Given the description of an element on the screen output the (x, y) to click on. 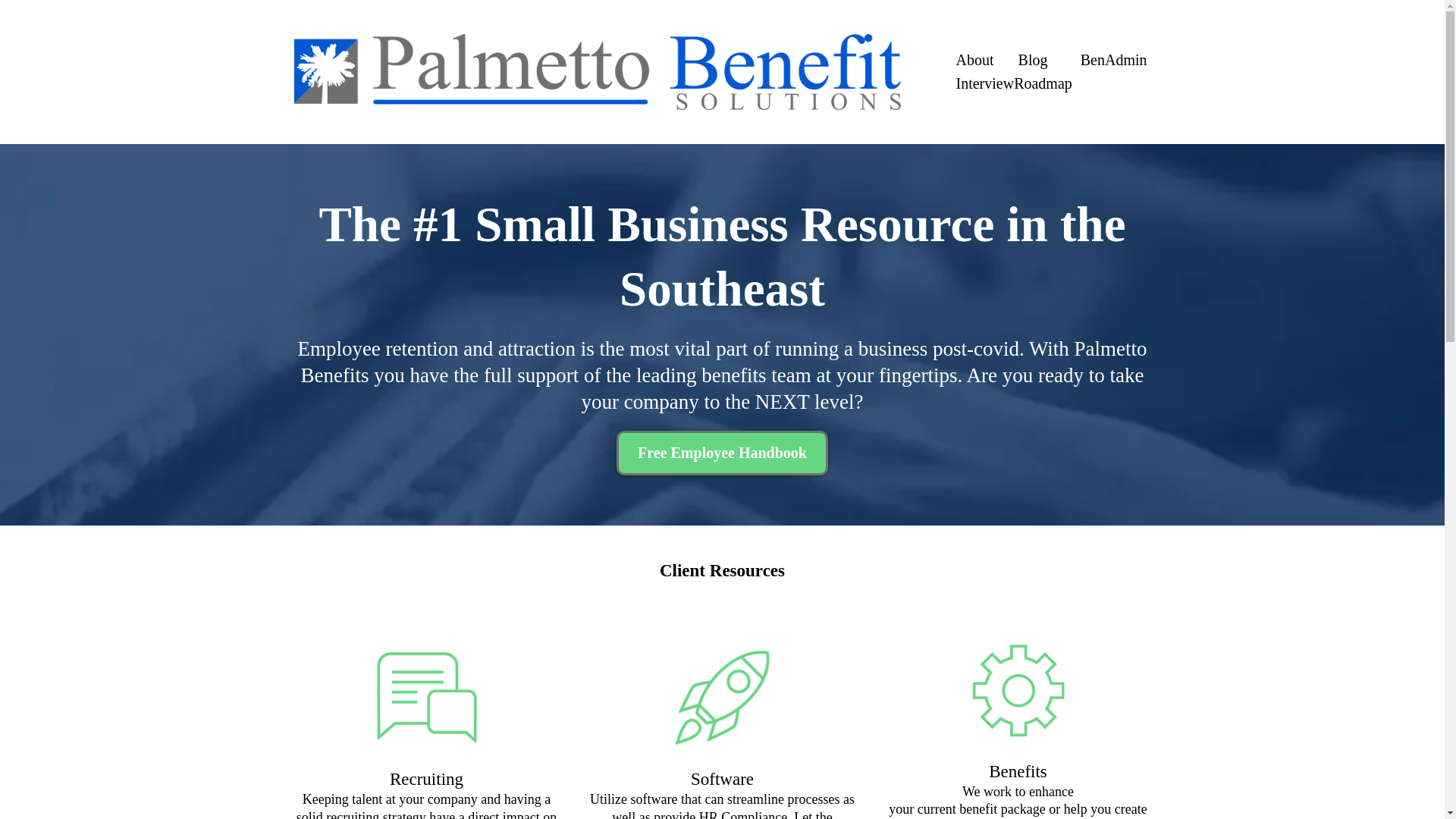
InterviewRoadmap (1013, 83)
BenAdmin (1114, 60)
Blog (1032, 60)
About (974, 60)
Free Employee Handbook (721, 452)
